Given the description of an element on the screen output the (x, y) to click on. 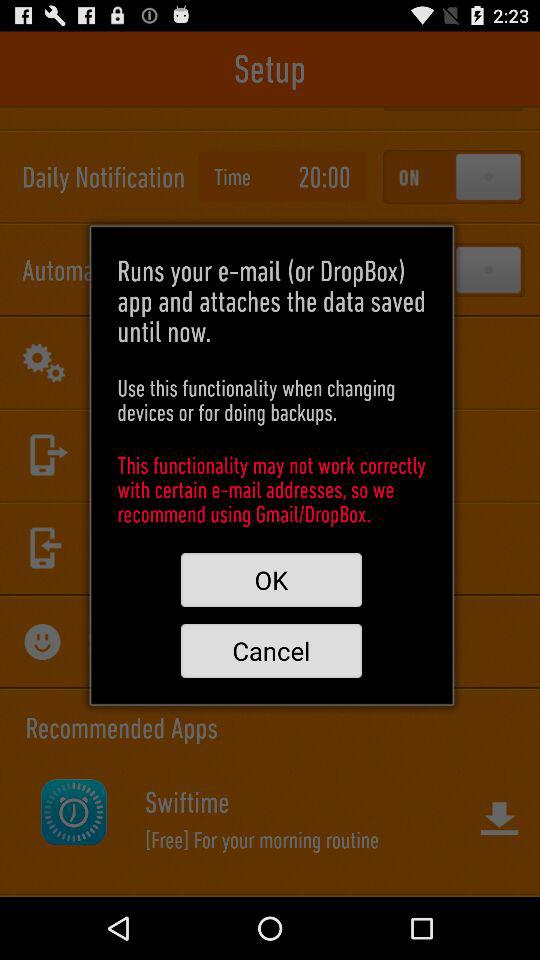
select item above cancel item (271, 580)
